Given the description of an element on the screen output the (x, y) to click on. 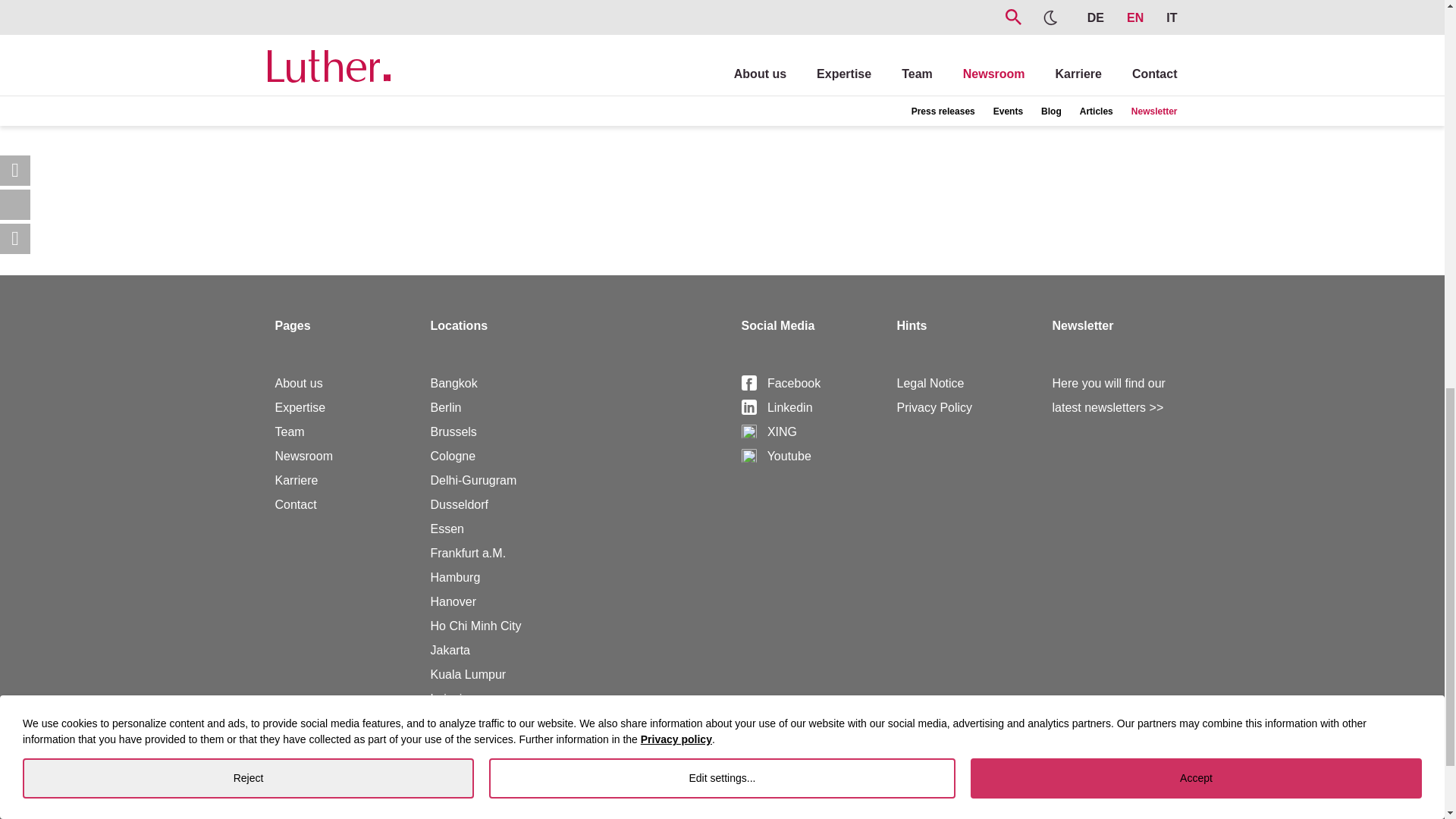
Team (289, 431)
Cologne (453, 455)
Essen (447, 528)
Expertise (299, 407)
Contact (295, 504)
Berlin (445, 407)
Hamburg (455, 576)
About us (298, 382)
Delhi-Gurugram (473, 480)
Frankfurt a.M. (468, 553)
Contact (295, 504)
Bangkok (453, 382)
Newsroom (303, 455)
Expertise (299, 407)
About us (298, 382)
